Given the description of an element on the screen output the (x, y) to click on. 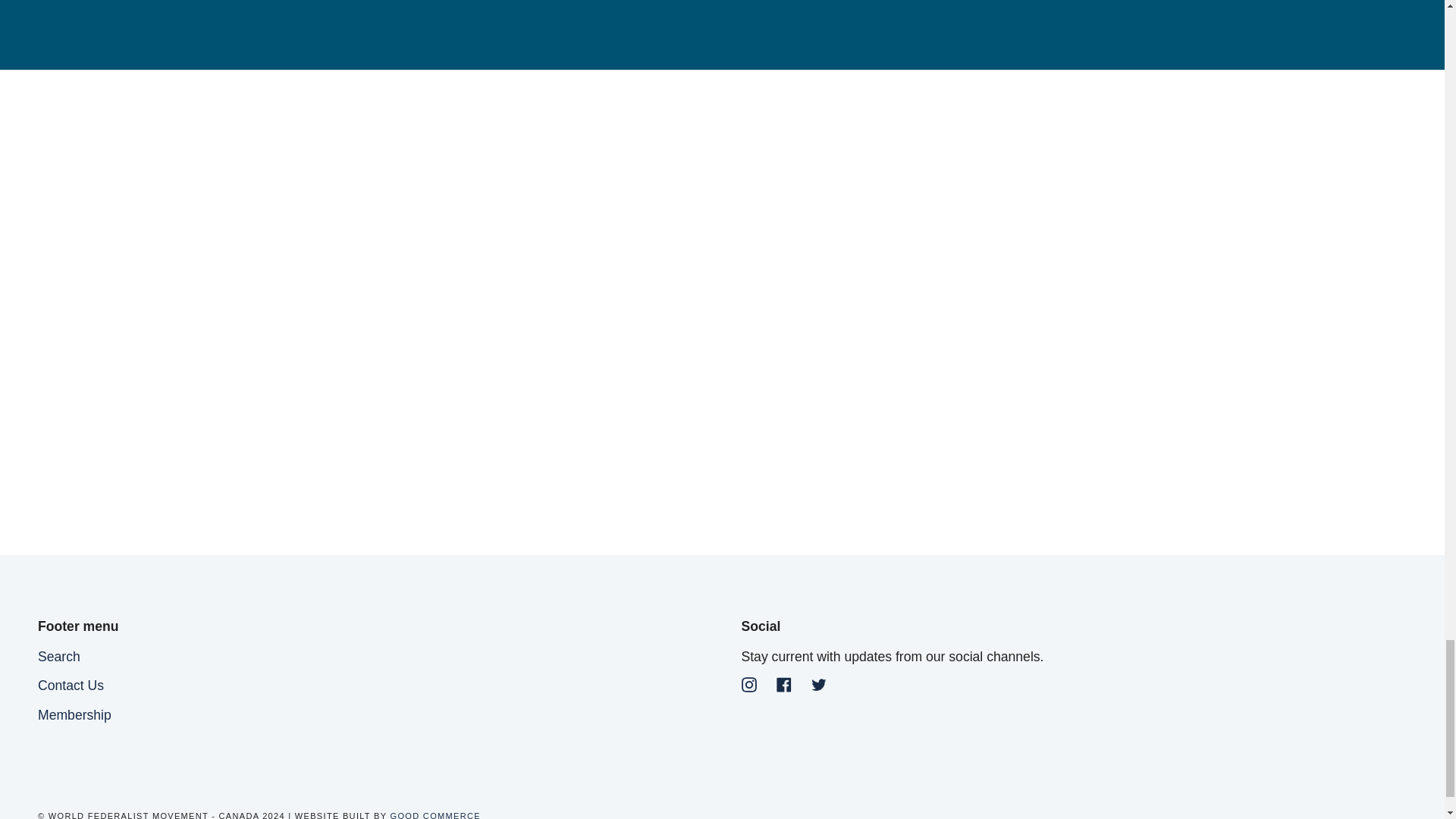
World Federalist Movement - Canada on Twitter (818, 683)
World Federalist Movement - Canada on Facebook (784, 683)
World Federalist Movement - Canada on Instagram (749, 683)
